Given the description of an element on the screen output the (x, y) to click on. 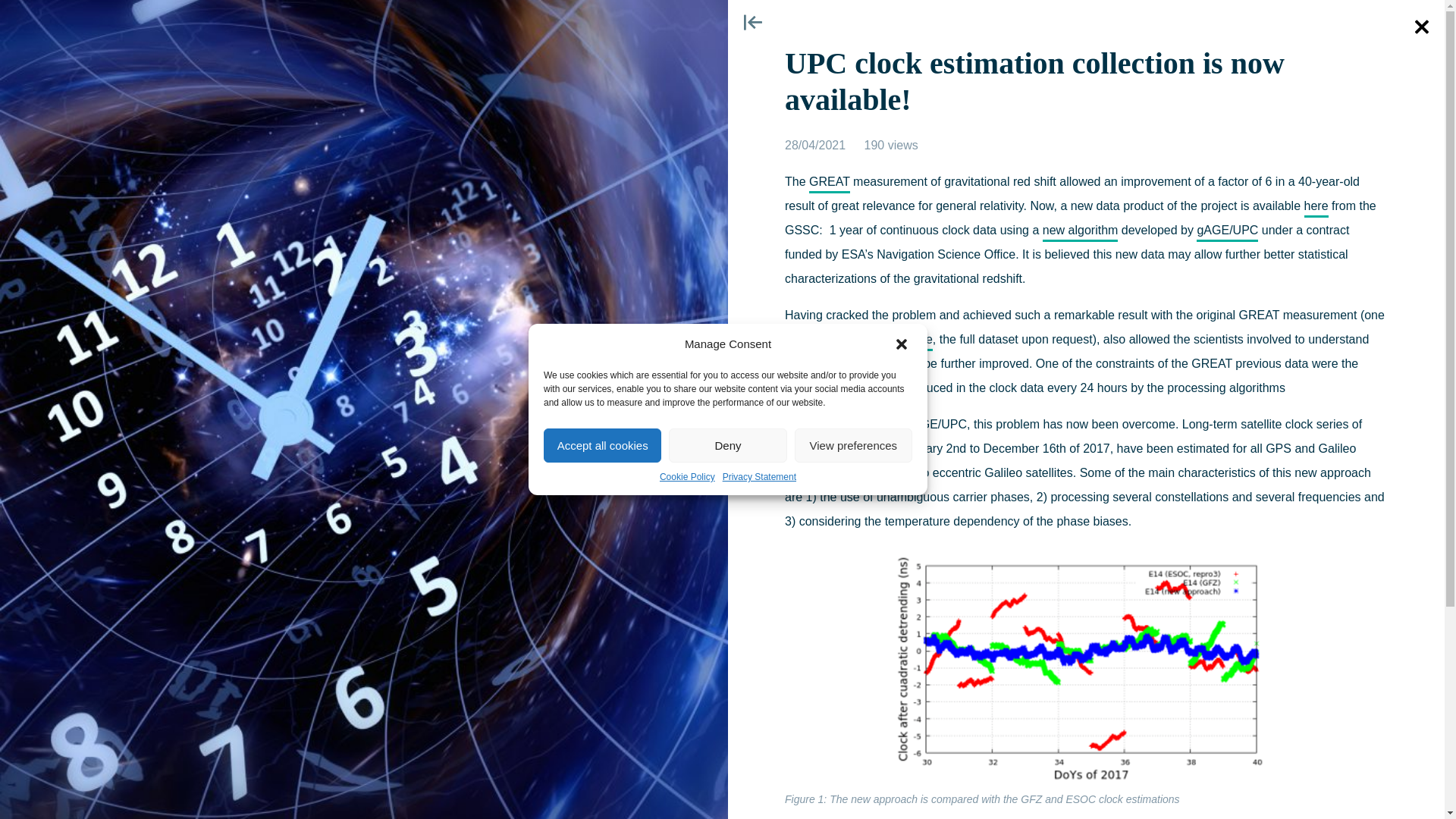
Privacy Statement (759, 477)
GREAT (829, 184)
Accept all cookies (602, 445)
new algorithm (1080, 232)
Deny (727, 445)
here (920, 341)
Cookie Policy (686, 477)
here (1315, 208)
View preferences (853, 445)
